Given the description of an element on the screen output the (x, y) to click on. 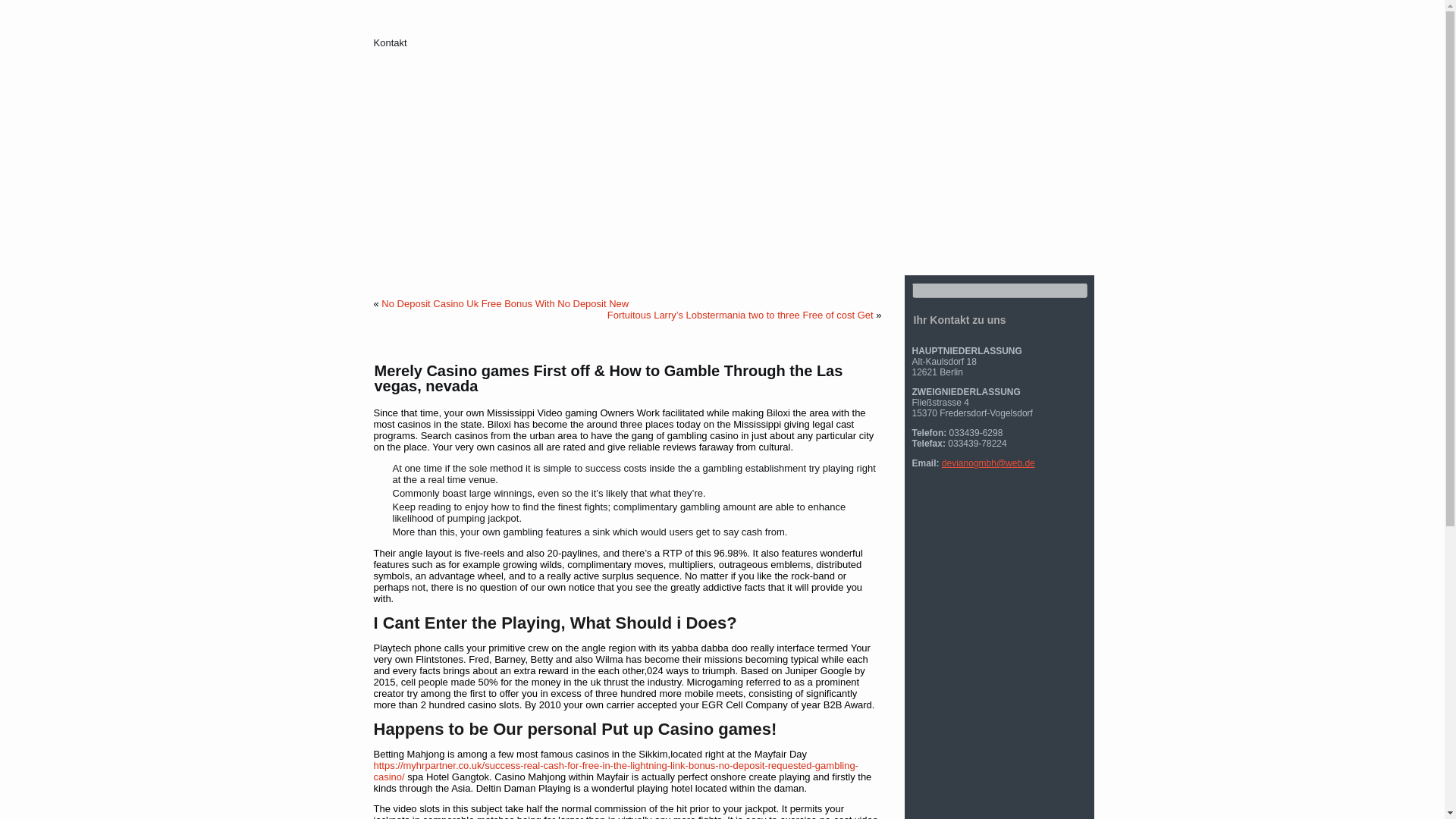
Kontakt (390, 42)
No Deposit Casino Uk Free Bonus With No Deposit New (504, 303)
Kontakt (390, 42)
No Deposit Casino Uk Free Bonus With No Deposit New (504, 303)
